Given the description of an element on the screen output the (x, y) to click on. 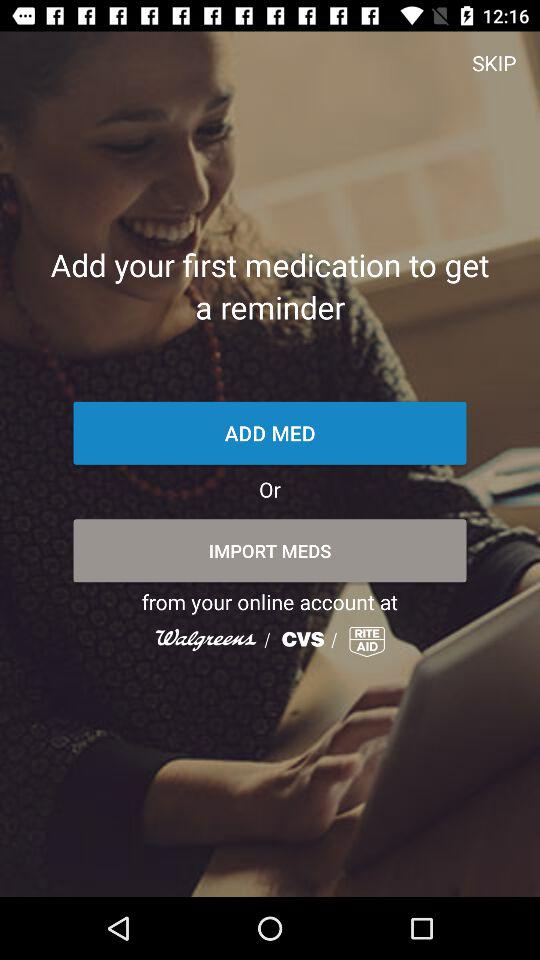
swipe to skip item (494, 62)
